Given the description of an element on the screen output the (x, y) to click on. 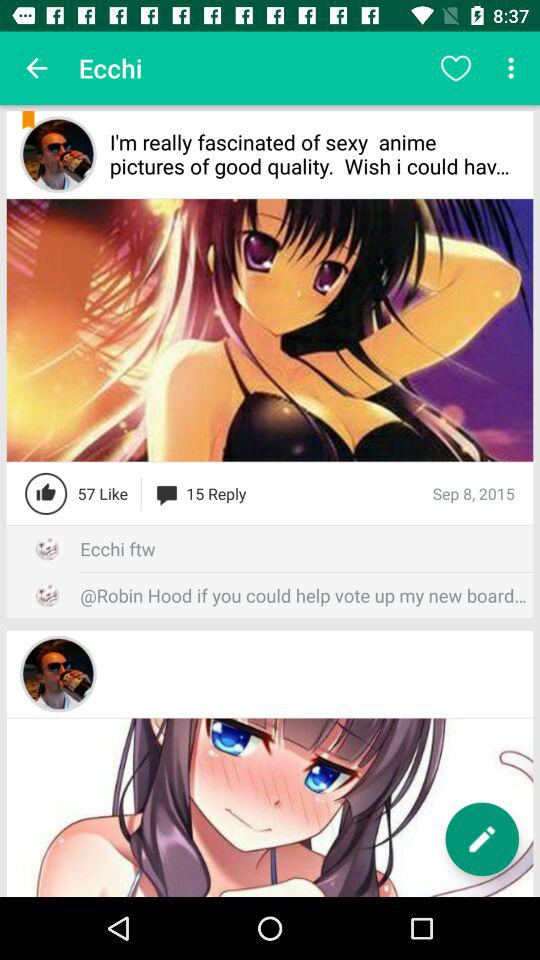
click to like (46, 493)
